Given the description of an element on the screen output the (x, y) to click on. 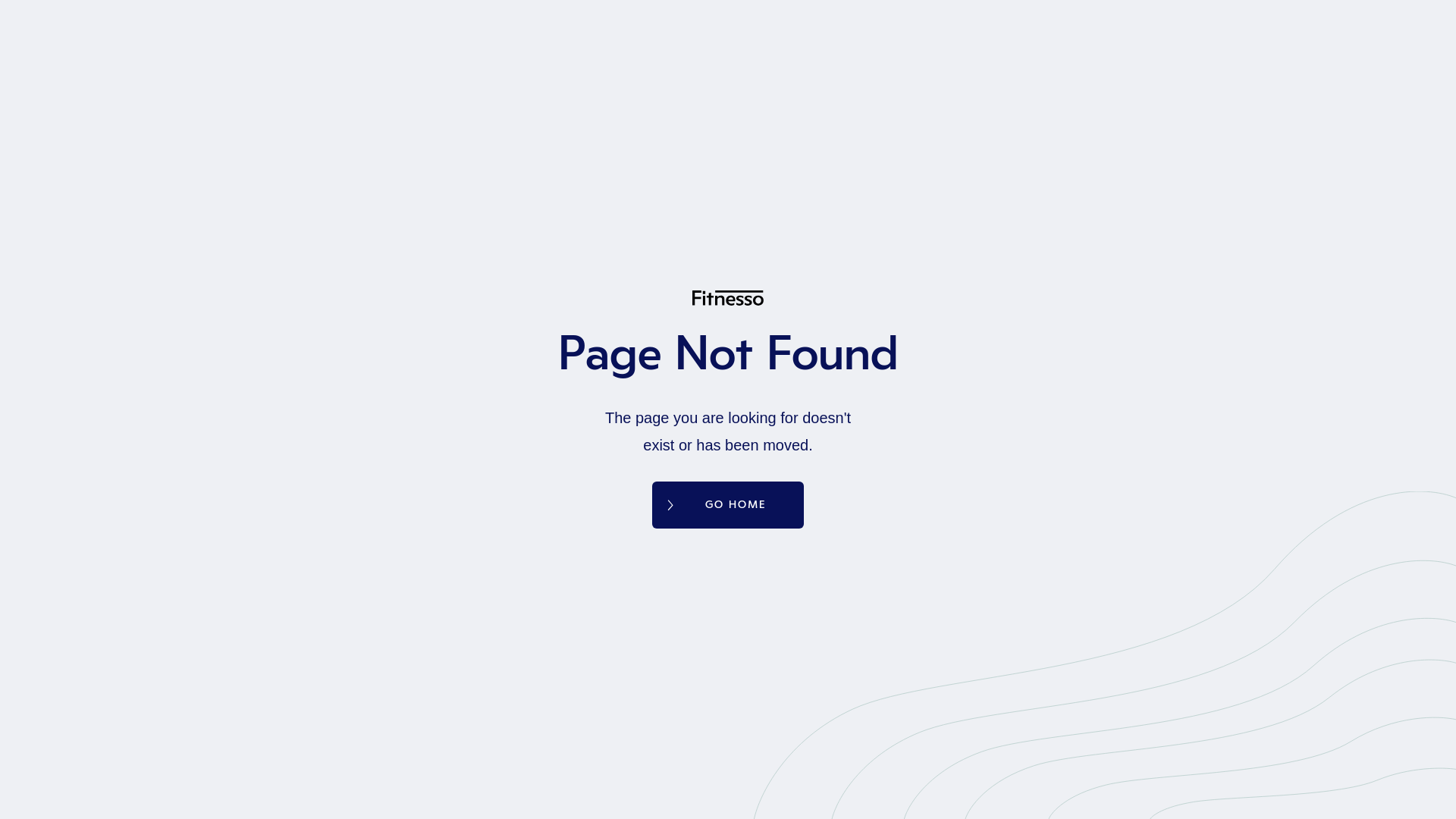
GO HOME Element type: text (727, 504)
